Given the description of an element on the screen output the (x, y) to click on. 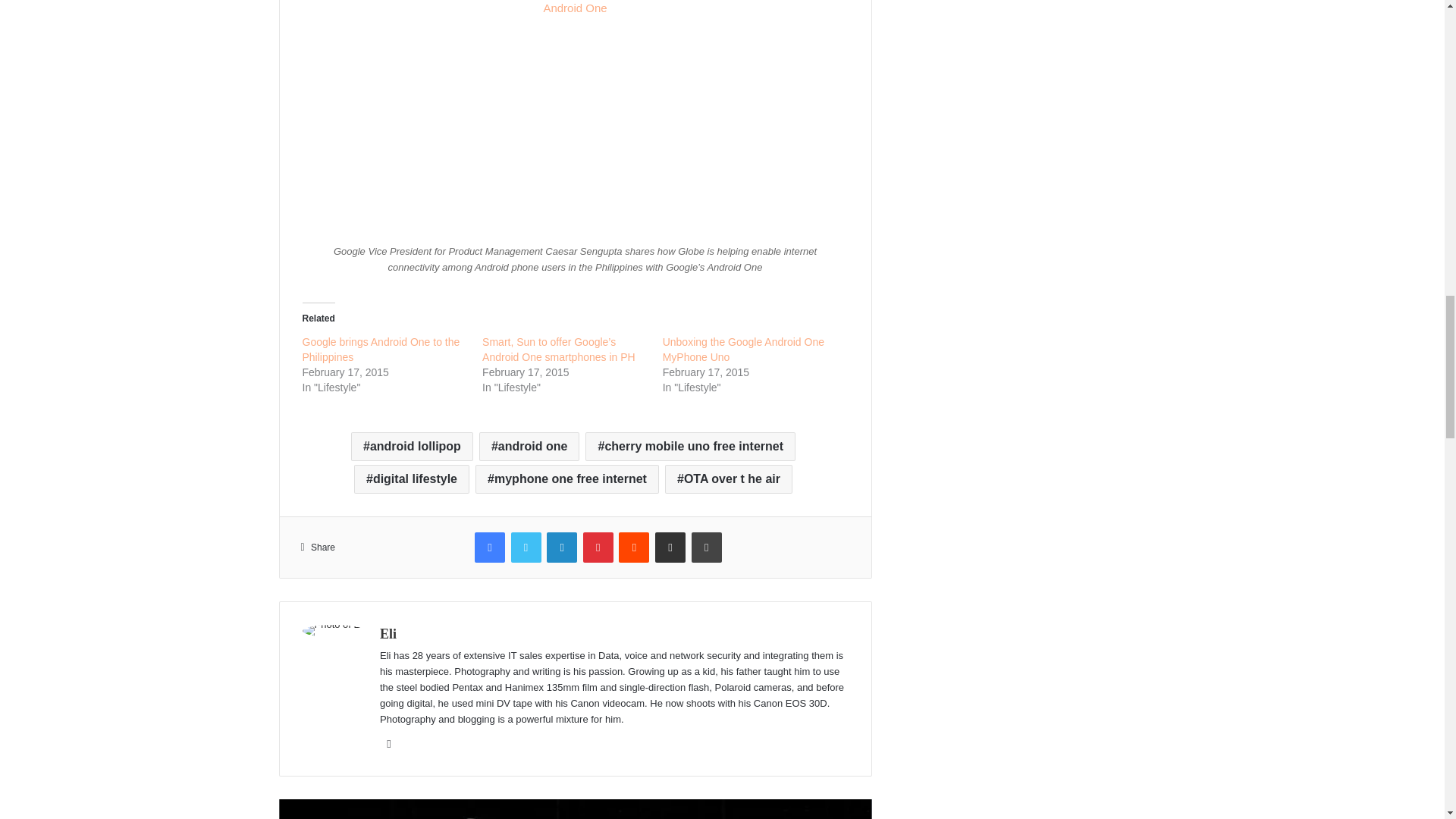
Pinterest (597, 547)
Reddit (633, 547)
digital lifestyle (410, 479)
cherry mobile uno free internet (689, 446)
android one (529, 446)
myphone one free internet (567, 479)
LinkedIn (561, 547)
OTA over t he air (728, 479)
Print (706, 547)
Twitter (526, 547)
android lollipop (411, 446)
Share via Email (670, 547)
Facebook (489, 547)
Google brings Android One to the Philippines (380, 349)
Google brings Android One to the Philippines (380, 349)
